Given the description of an element on the screen output the (x, y) to click on. 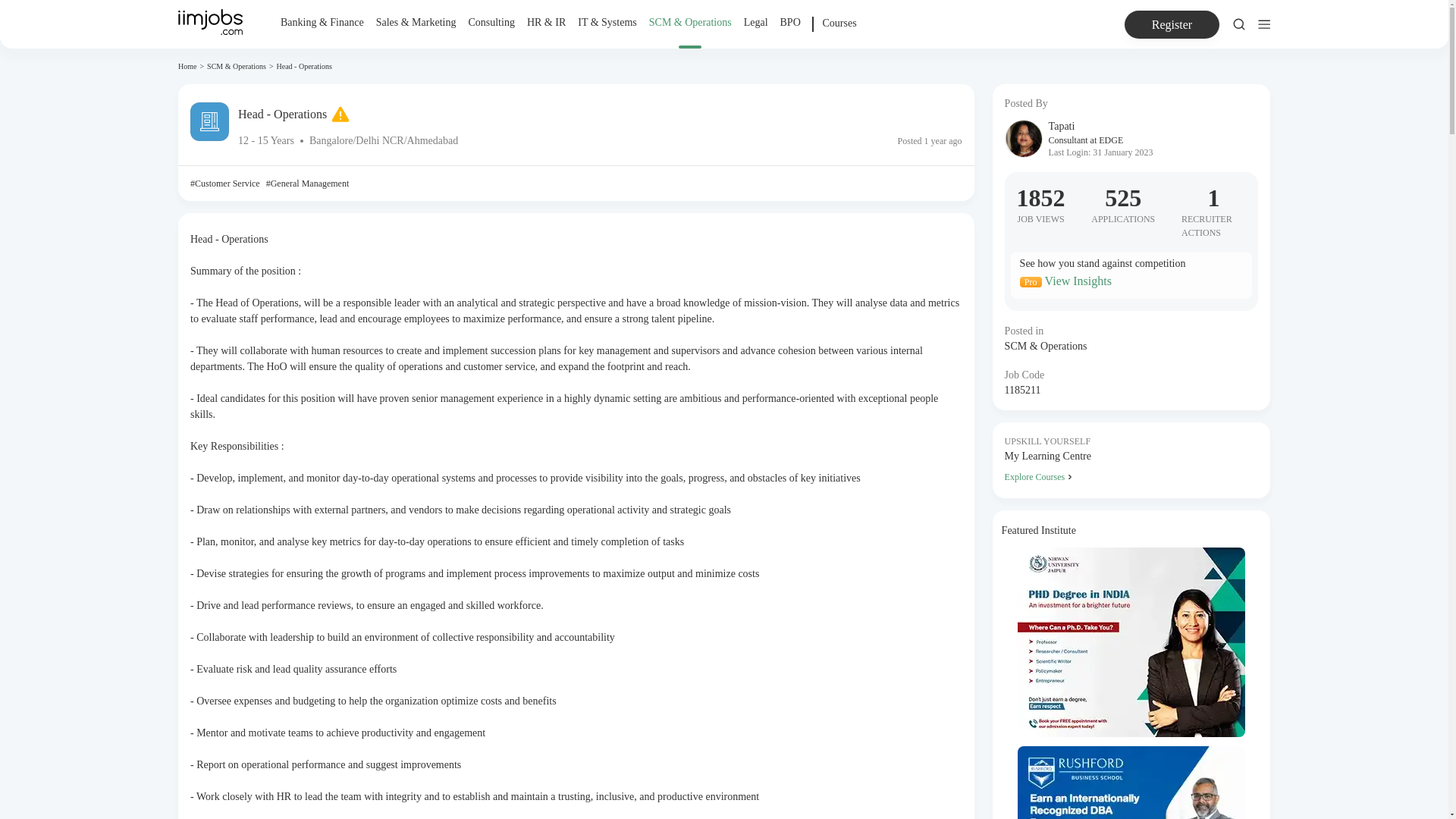
Courses (839, 31)
Consulting (490, 31)
Consulting (490, 22)
Register (1172, 24)
Home (186, 66)
